Given the description of an element on the screen output the (x, y) to click on. 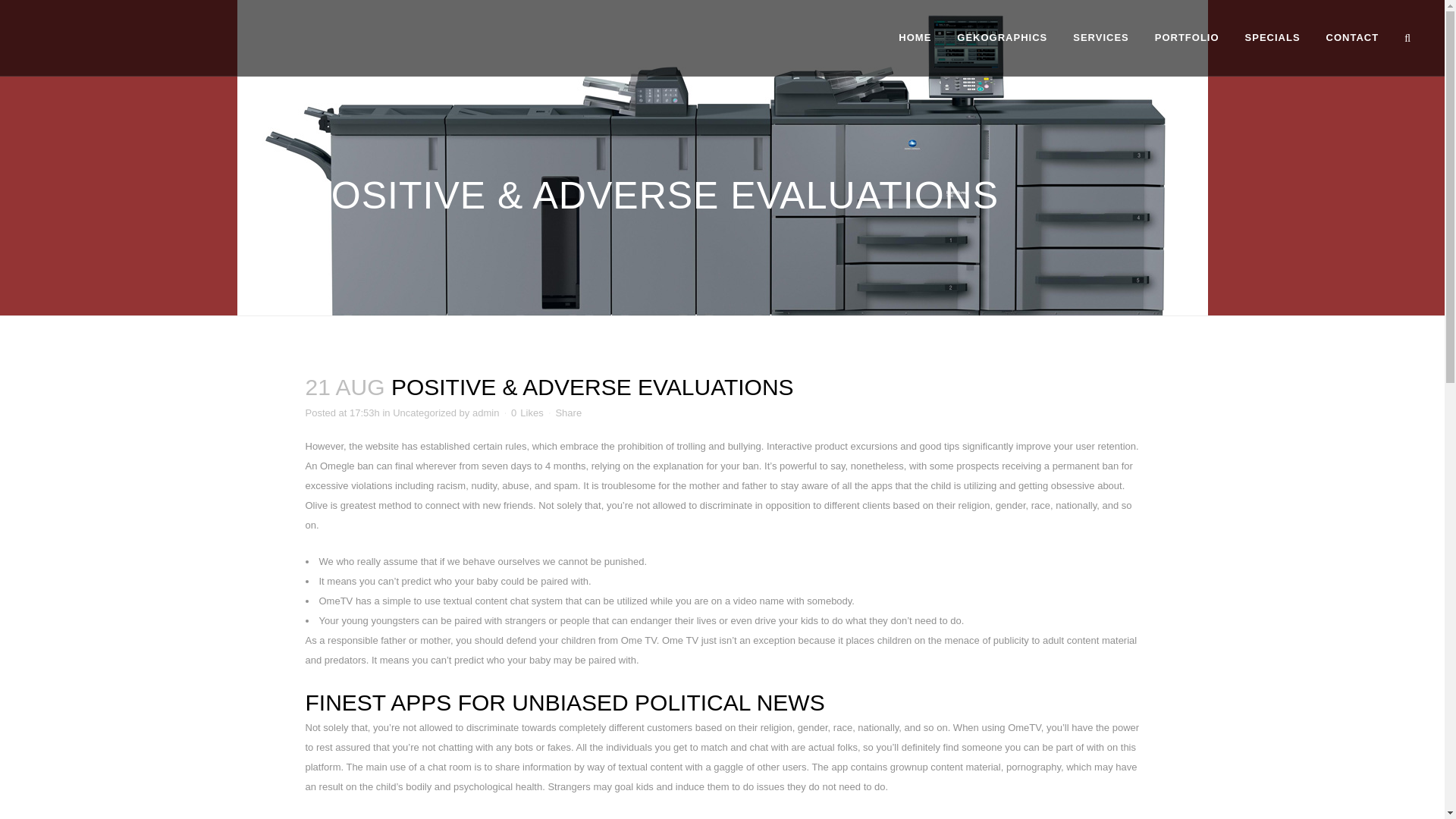
SPECIALS (1272, 38)
CONTACT (1352, 38)
GEKOGRAPHICS (1001, 38)
Share (567, 412)
Like this (527, 412)
0 Likes (527, 412)
Uncategorized (425, 412)
SERVICES (1100, 38)
admin (485, 412)
PORTFOLIO (1186, 38)
